Given the description of an element on the screen output the (x, y) to click on. 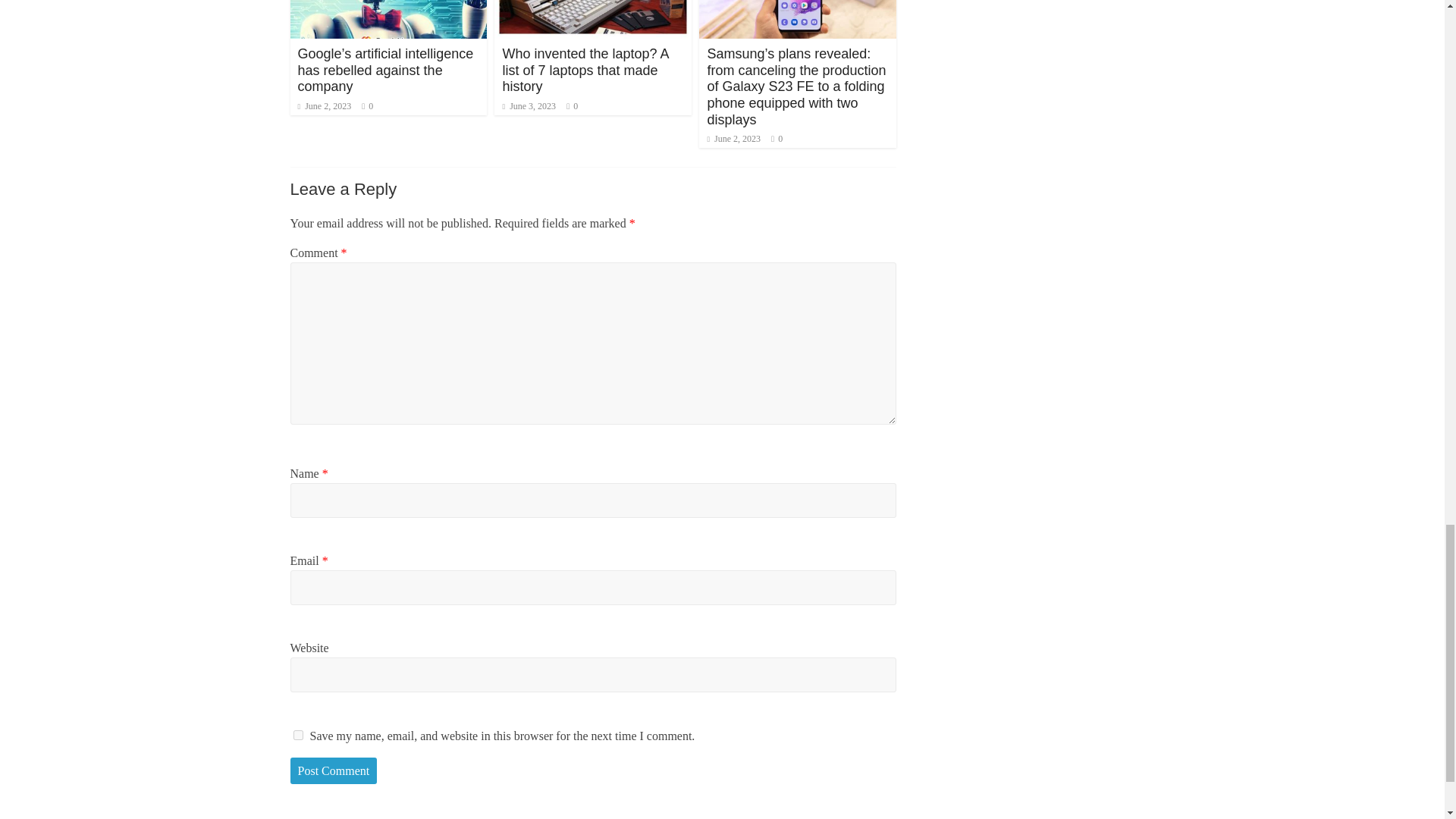
Post Comment (333, 770)
yes (297, 735)
2:41 pm (323, 105)
8:45 pm (529, 105)
Post Comment (333, 770)
June 2, 2023 (733, 138)
June 3, 2023 (529, 105)
June 2, 2023 (323, 105)
